Given the description of an element on the screen output the (x, y) to click on. 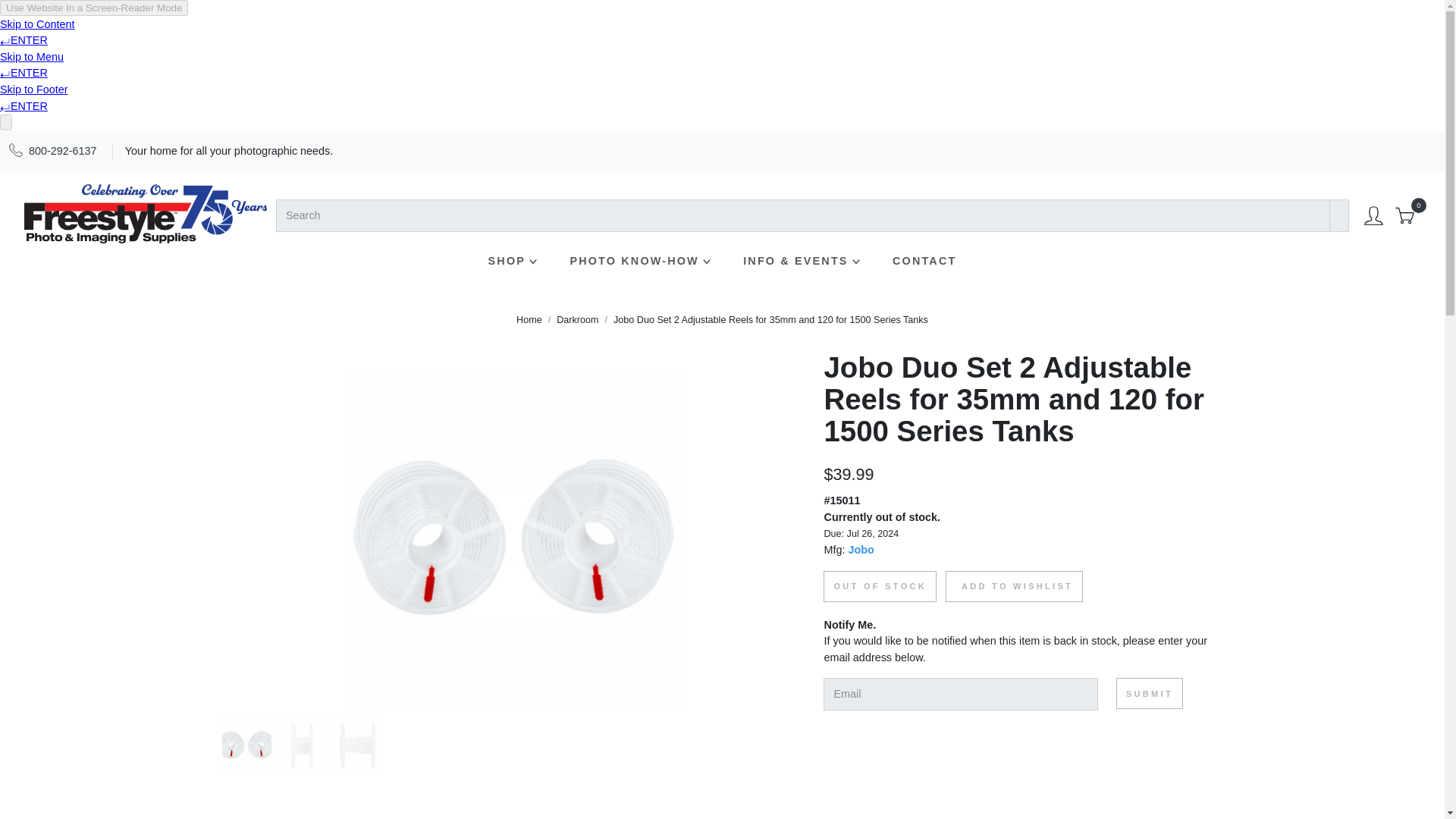
SHOP (513, 261)
800-292-6137 (63, 150)
